Given the description of an element on the screen output the (x, y) to click on. 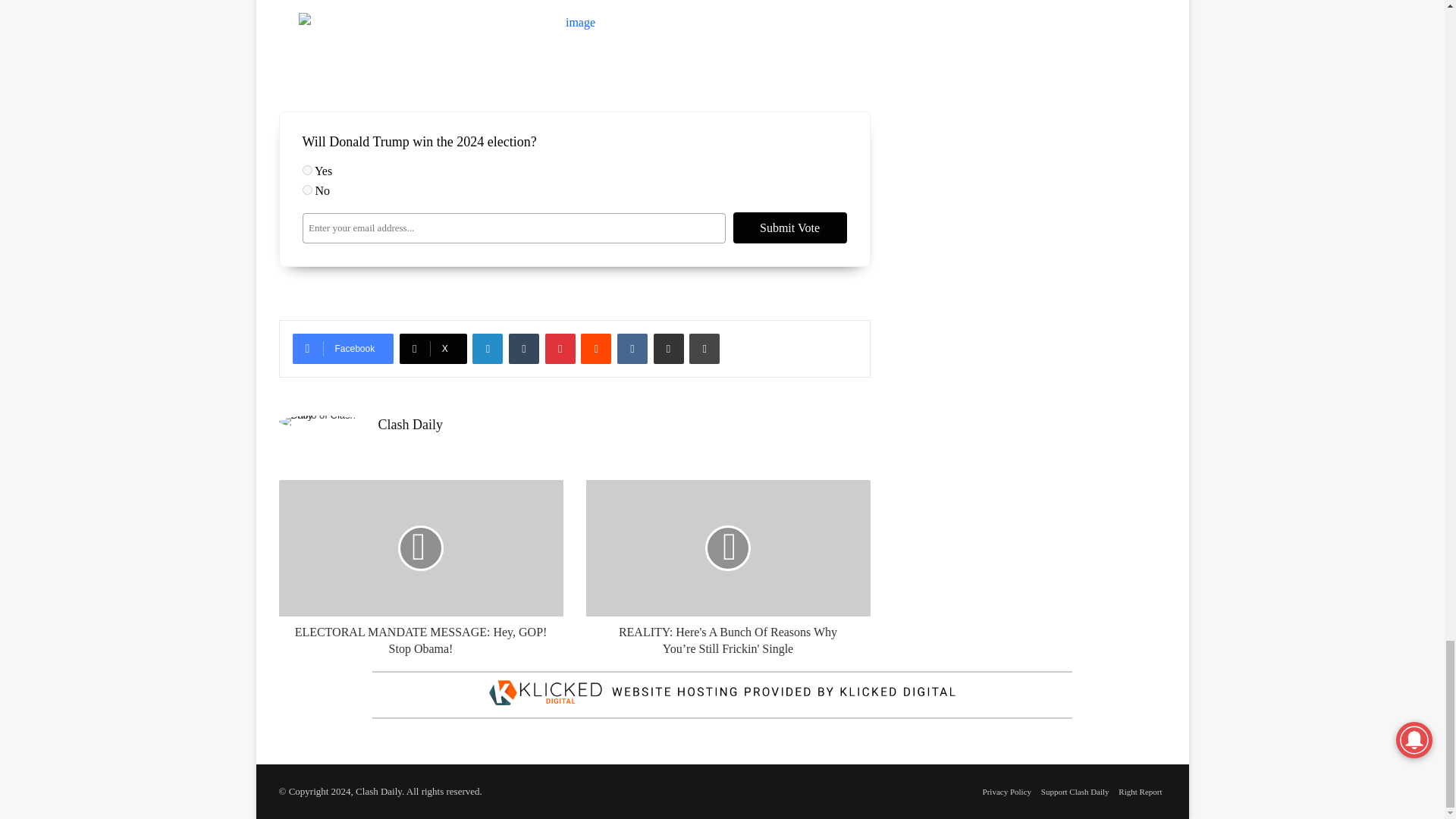
LinkedIn (486, 348)
VKontakte (632, 348)
Tumblr (523, 348)
X (432, 348)
Reddit (595, 348)
Submit Vote (788, 227)
Share via Email (668, 348)
10 (306, 189)
Facebook (343, 348)
Pinterest (559, 348)
LinkedIn (486, 348)
X (432, 348)
Facebook (343, 348)
Print (703, 348)
9 (306, 170)
